Given the description of an element on the screen output the (x, y) to click on. 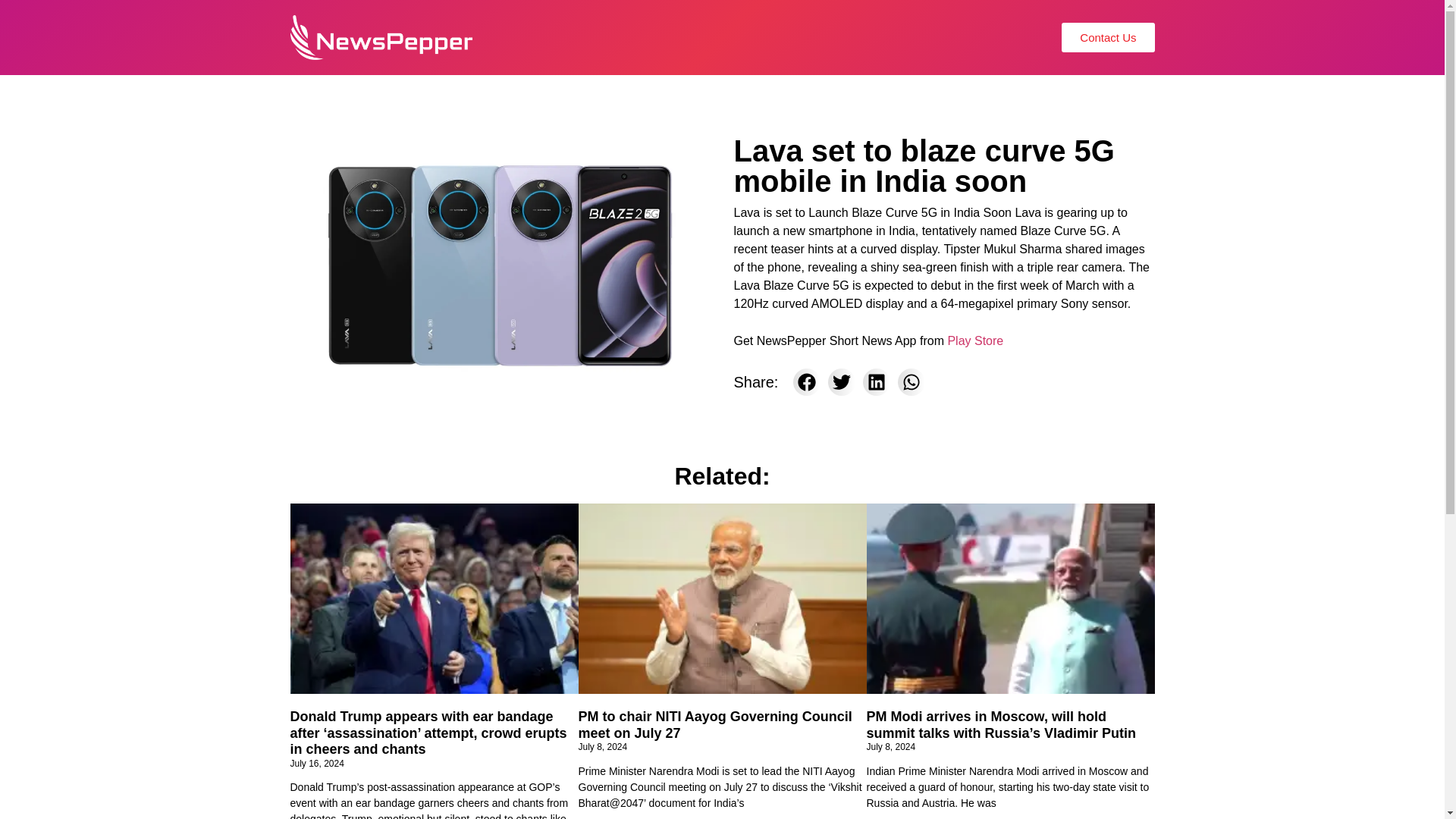
Contact Us (1107, 37)
PM to chair NITI Aayog Governing Council meet on July 27 (714, 725)
Play Store (975, 340)
